Given the description of an element on the screen output the (x, y) to click on. 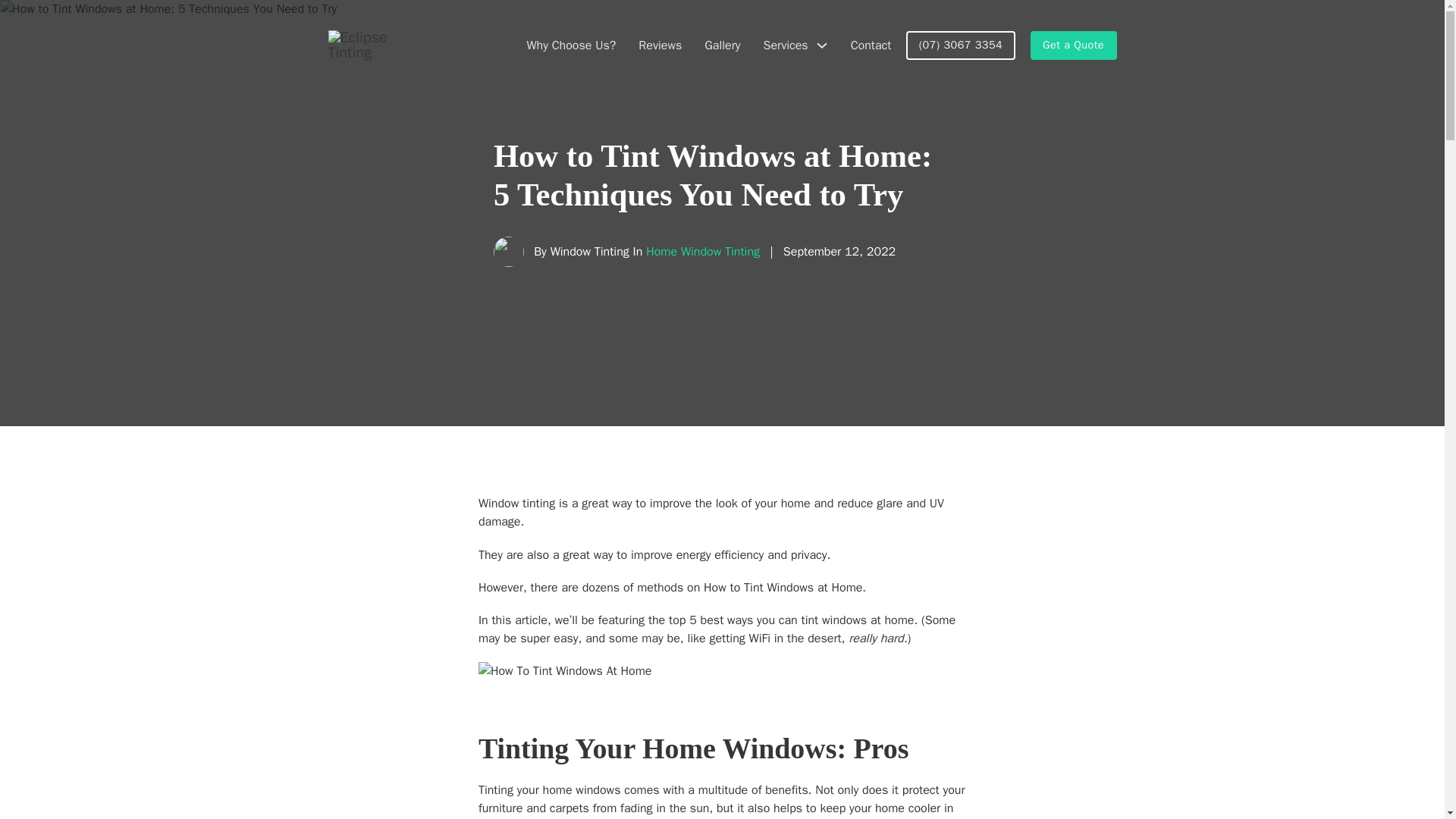
Reviews (660, 45)
Services (785, 45)
Contact (870, 45)
Gallery (721, 45)
Why Choose Us? (570, 45)
Get a Quote (1073, 44)
Home Window Tinting (703, 251)
